Given the description of an element on the screen output the (x, y) to click on. 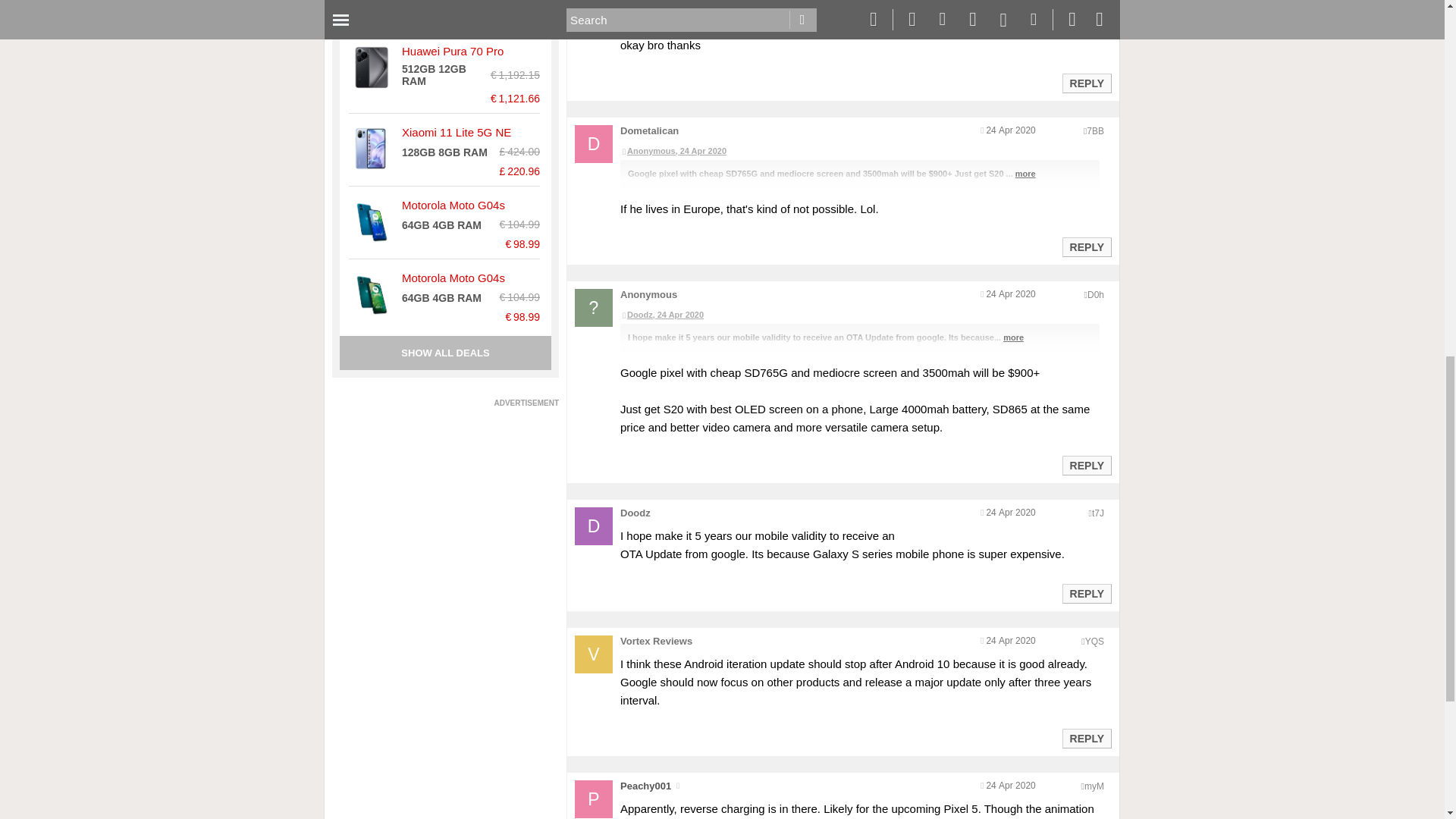
Reply to this post (1086, 593)
Reply to this post (1086, 246)
Reply to this post (1086, 738)
Encoded anonymized location (1095, 294)
Reply to this post (1086, 82)
Reply to this post (1086, 465)
Encoded anonymized location (1093, 786)
Encoded anonymized location (1097, 512)
Encoded anonymized location (1094, 131)
more (1024, 9)
Encoded anonymized location (1093, 641)
